Given the description of an element on the screen output the (x, y) to click on. 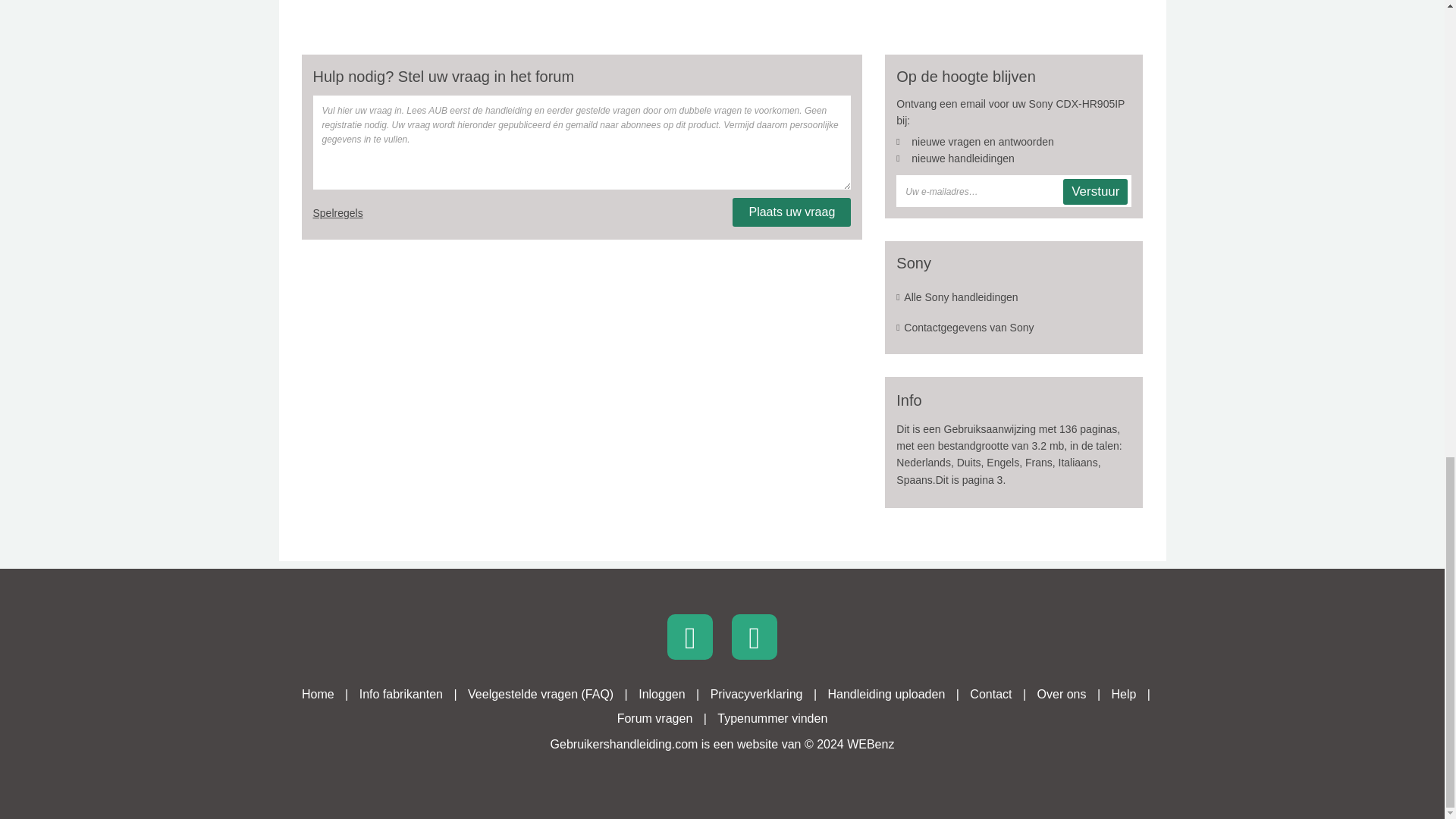
Bekijk contactgegevens fabrikanten (400, 694)
Lees hier onze spelregels om in het forum te mogen plaatsen (337, 213)
Sony handleidingen (1013, 296)
Plaats uw vraag (791, 212)
Spelregels (337, 213)
Bekijk onze Facebookpagina (754, 637)
Heeft u een account? Log dan hier in (661, 694)
3rd party ad content (721, 18)
Bekijk de contactgegevens van Sony (1013, 327)
Bekijk de meest gestelde vragen (540, 694)
Verstuur (1094, 191)
Contactgegevens van Sony (1013, 327)
Bekijk onze twitterfeed (689, 637)
Plaats uw vraag (791, 212)
